Given the description of an element on the screen output the (x, y) to click on. 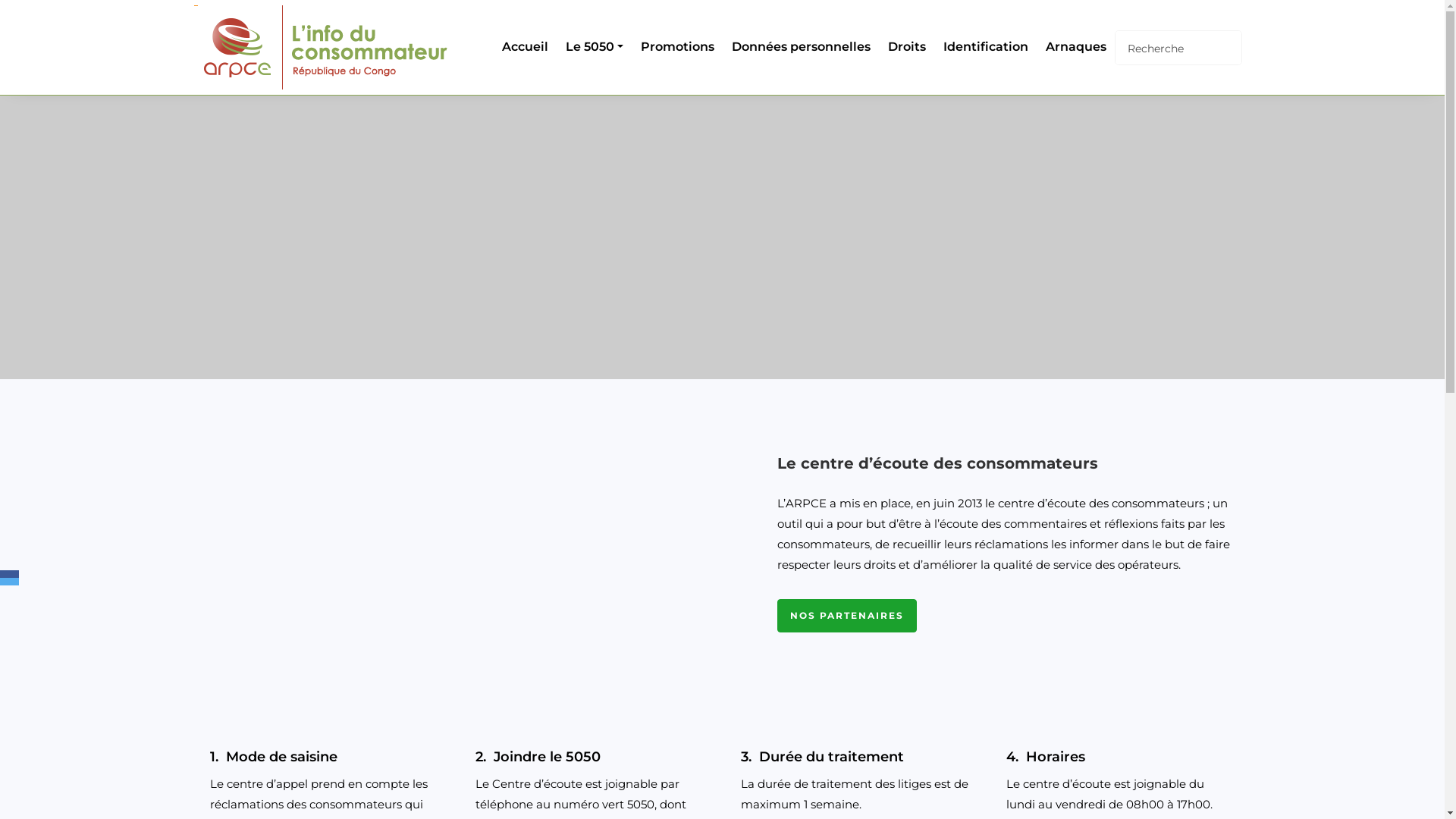
Accueil Element type: text (522, 47)
Promotions Element type: text (674, 47)
NOS PARTENAIRES Element type: text (846, 615)
4.  Horaires Element type: text (1119, 756)
1.  Mode de saisine Element type: text (323, 756)
Le 5050 Element type: text (591, 47)
2.  Joindre le 5050 Element type: text (588, 756)
Droits Element type: text (903, 47)
Arnaques Element type: text (1073, 47)
Identification Element type: text (982, 47)
